Given the description of an element on the screen output the (x, y) to click on. 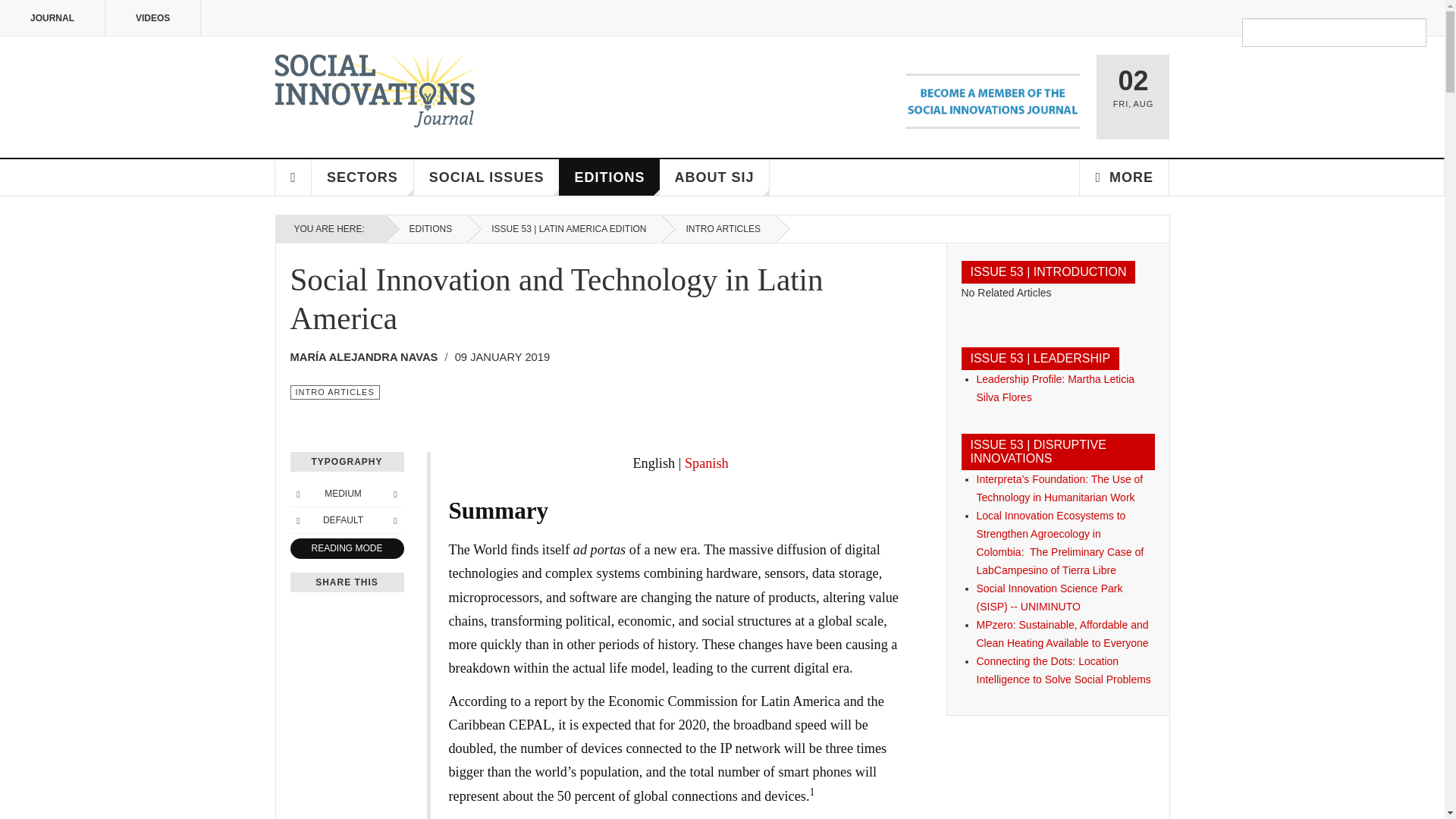
Social Innovation Journal (374, 90)
